Given the description of an element on the screen output the (x, y) to click on. 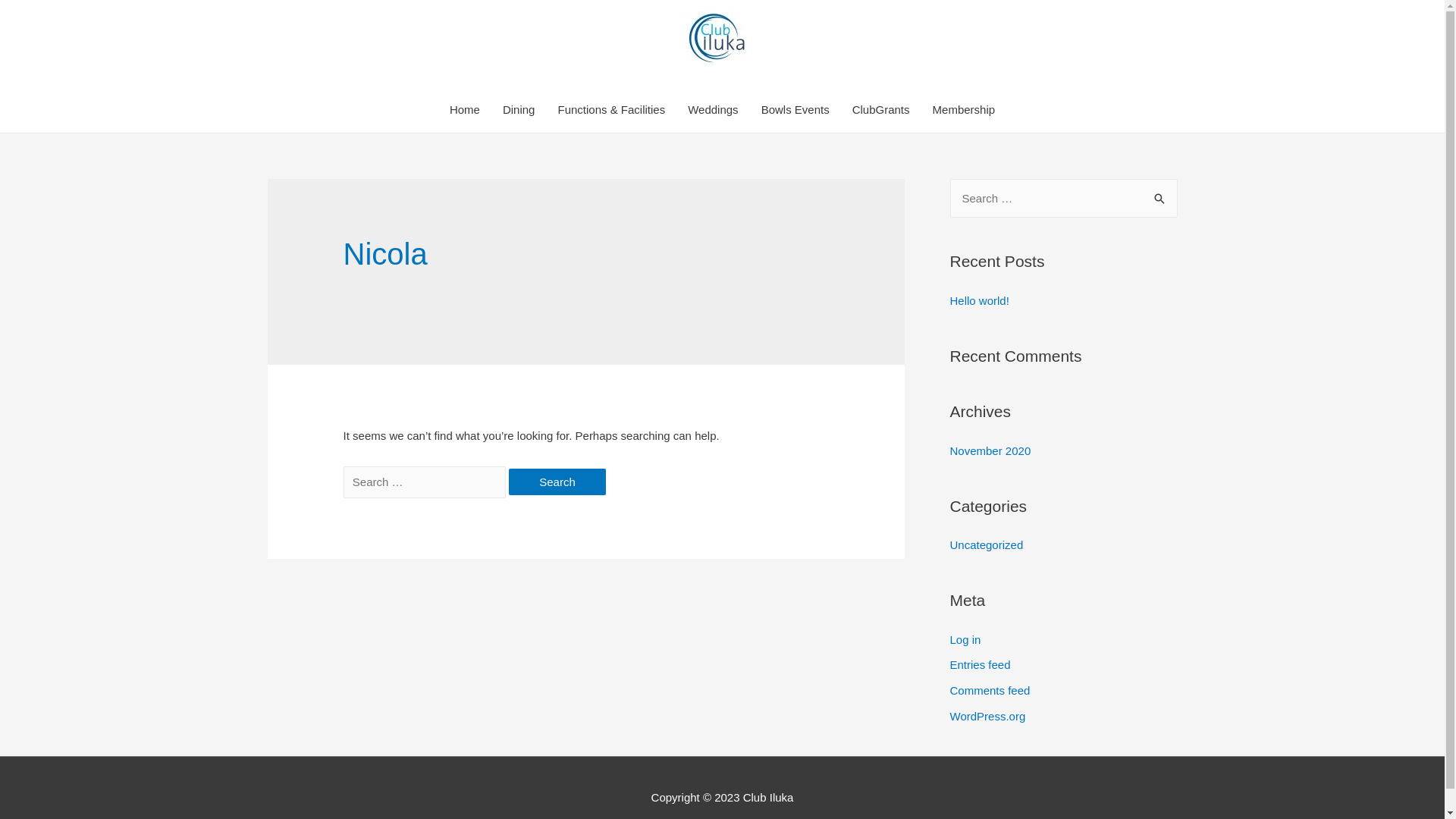
Functions & Facilities Element type: text (611, 109)
November 2020 Element type: text (989, 450)
Search Element type: text (1160, 194)
Search Element type: text (556, 481)
WordPress.org Element type: text (987, 715)
Weddings Element type: text (712, 109)
ClubGrants Element type: text (880, 109)
Comments feed Element type: text (989, 690)
Uncategorized Element type: text (985, 544)
Dining Element type: text (518, 109)
Log in Element type: text (964, 638)
Hello world! Element type: text (978, 300)
Entries feed Element type: text (979, 664)
Home Element type: text (464, 109)
Membership Element type: text (964, 109)
Bowls Events Element type: text (794, 109)
